Given the description of an element on the screen output the (x, y) to click on. 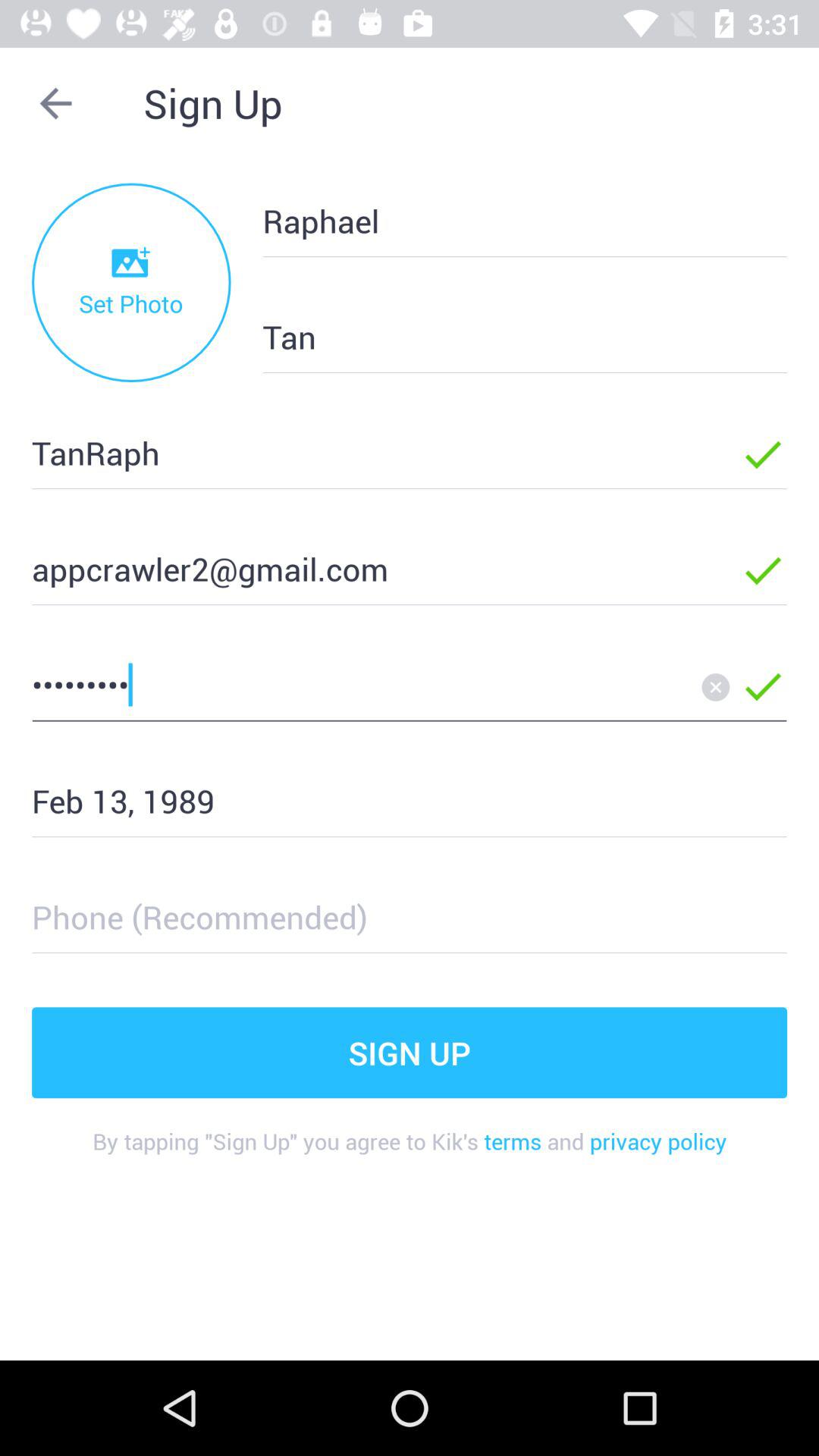
swipe to the by tapping sign icon (409, 1153)
